Given the description of an element on the screen output the (x, y) to click on. 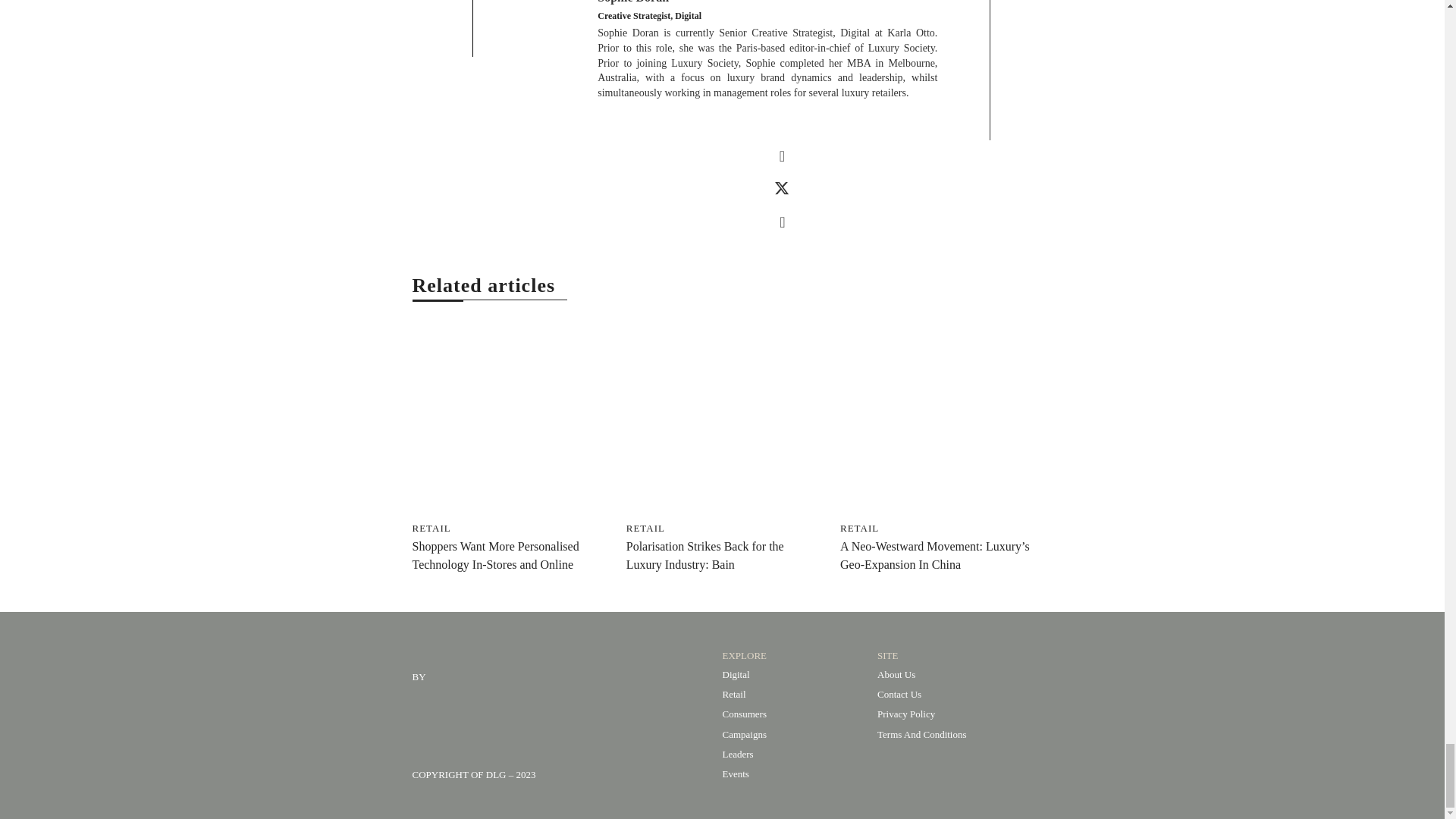
Share this (782, 155)
Tweet this (782, 188)
Share this (782, 222)
